Given the description of an element on the screen output the (x, y) to click on. 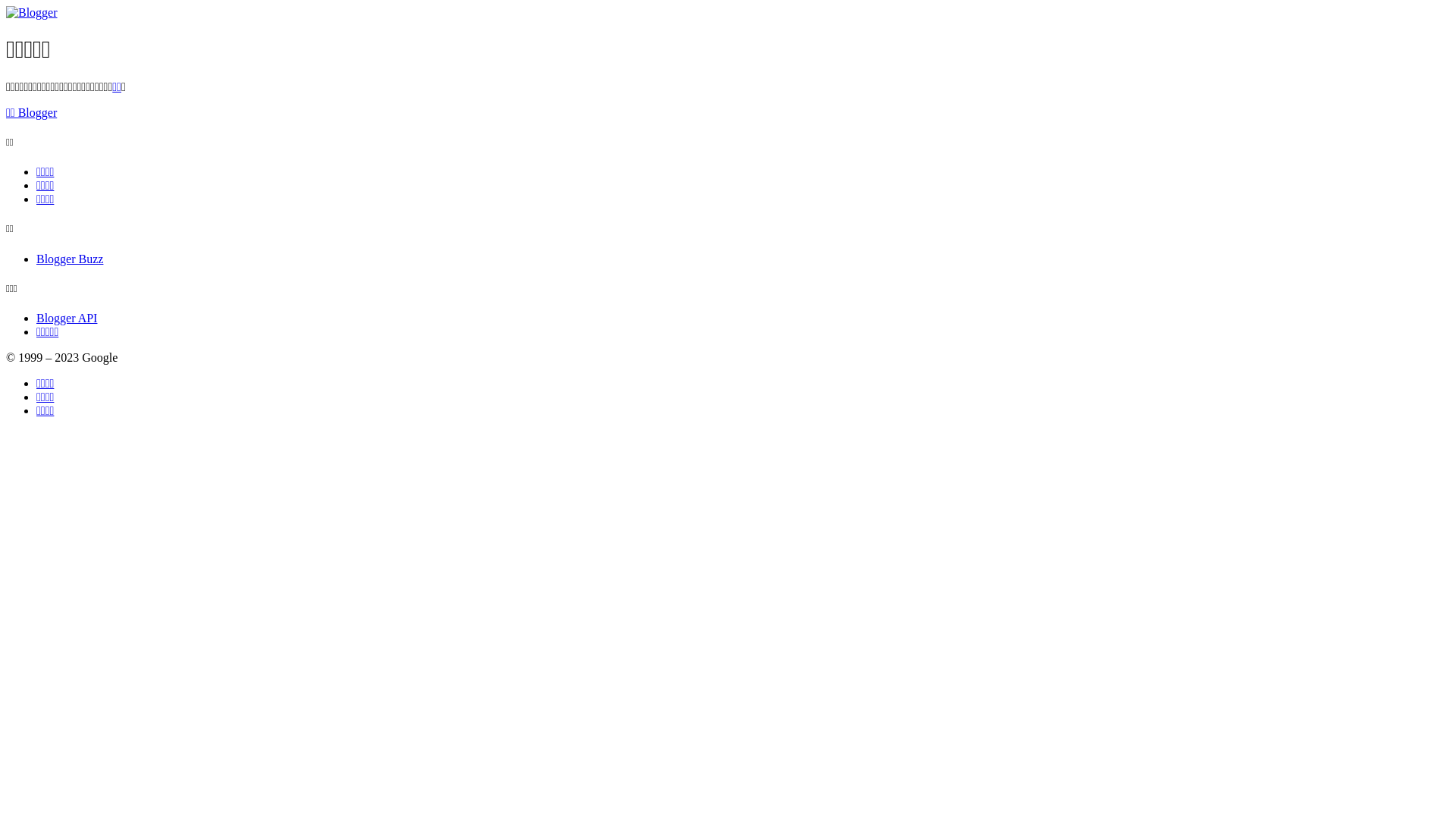
Blogger Buzz Element type: text (69, 258)
Blogger API Element type: text (66, 317)
